Given the description of an element on the screen output the (x, y) to click on. 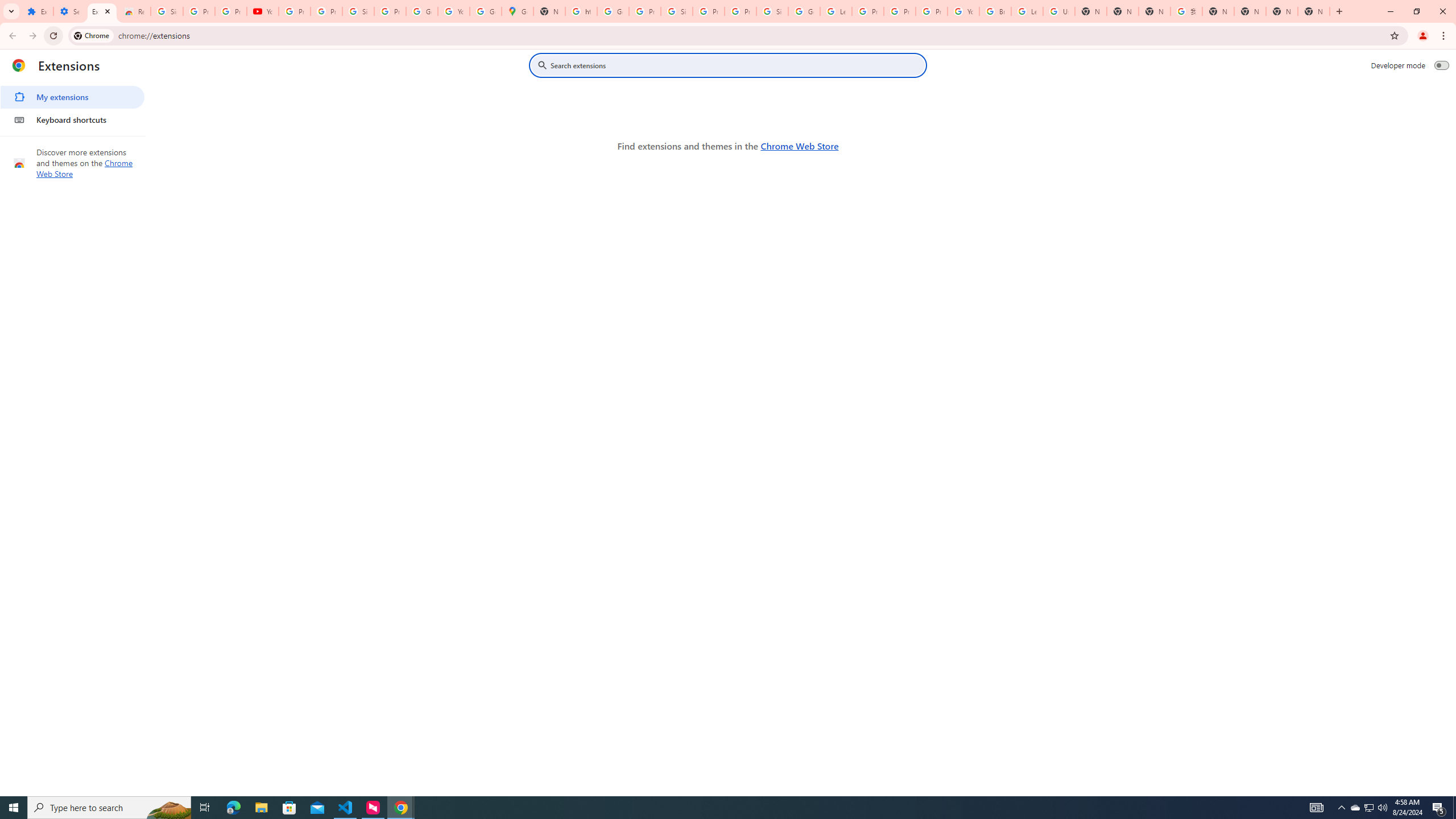
Google Account (421, 11)
Privacy Help Center - Policies Help (899, 11)
AutomationID: sectionMenu (72, 106)
Privacy Help Center - Policies Help (868, 11)
Chrome Web Store (799, 145)
Settings (69, 11)
